Given the description of an element on the screen output the (x, y) to click on. 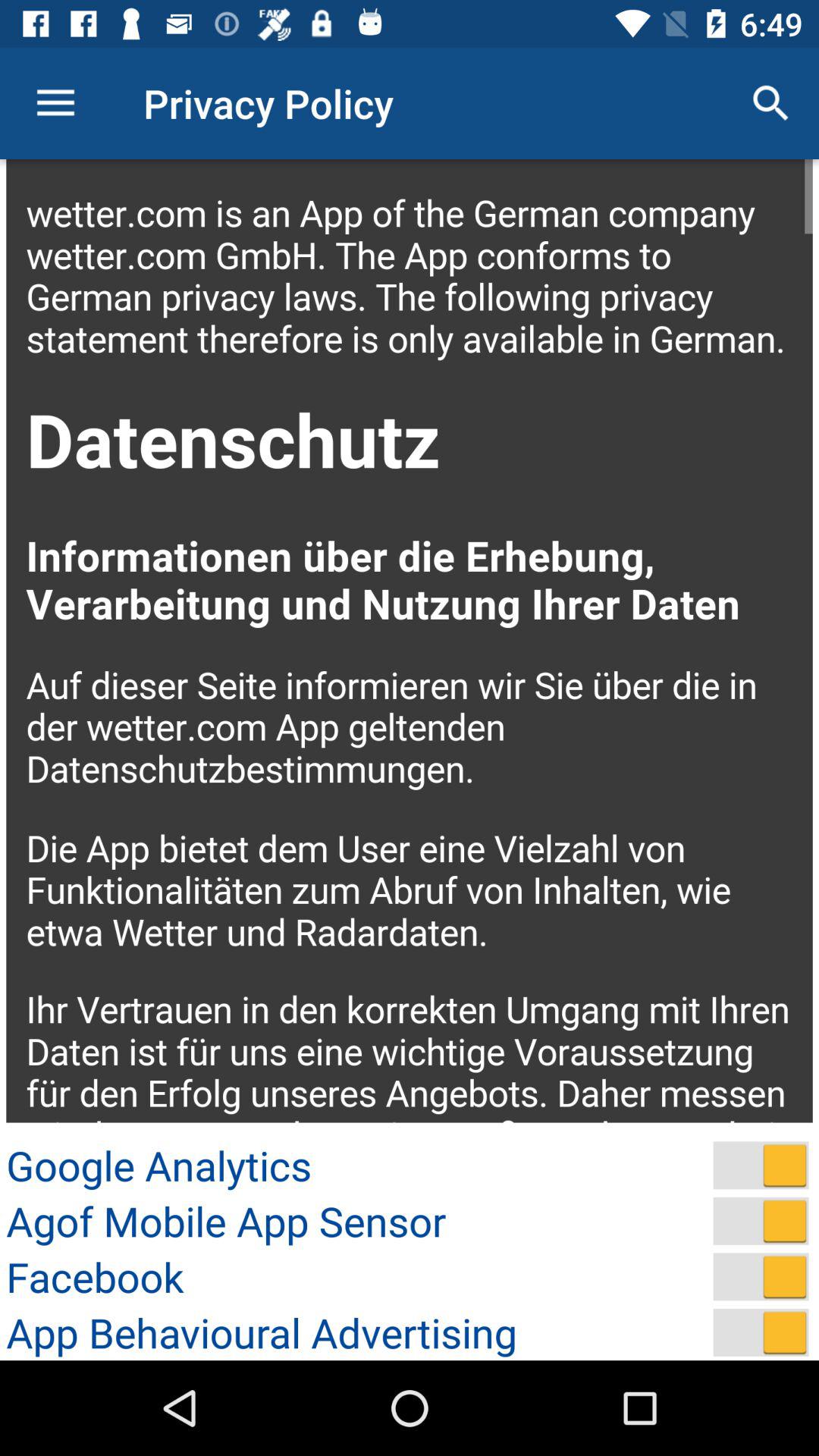
toggle play option (760, 1165)
